Given the description of an element on the screen output the (x, y) to click on. 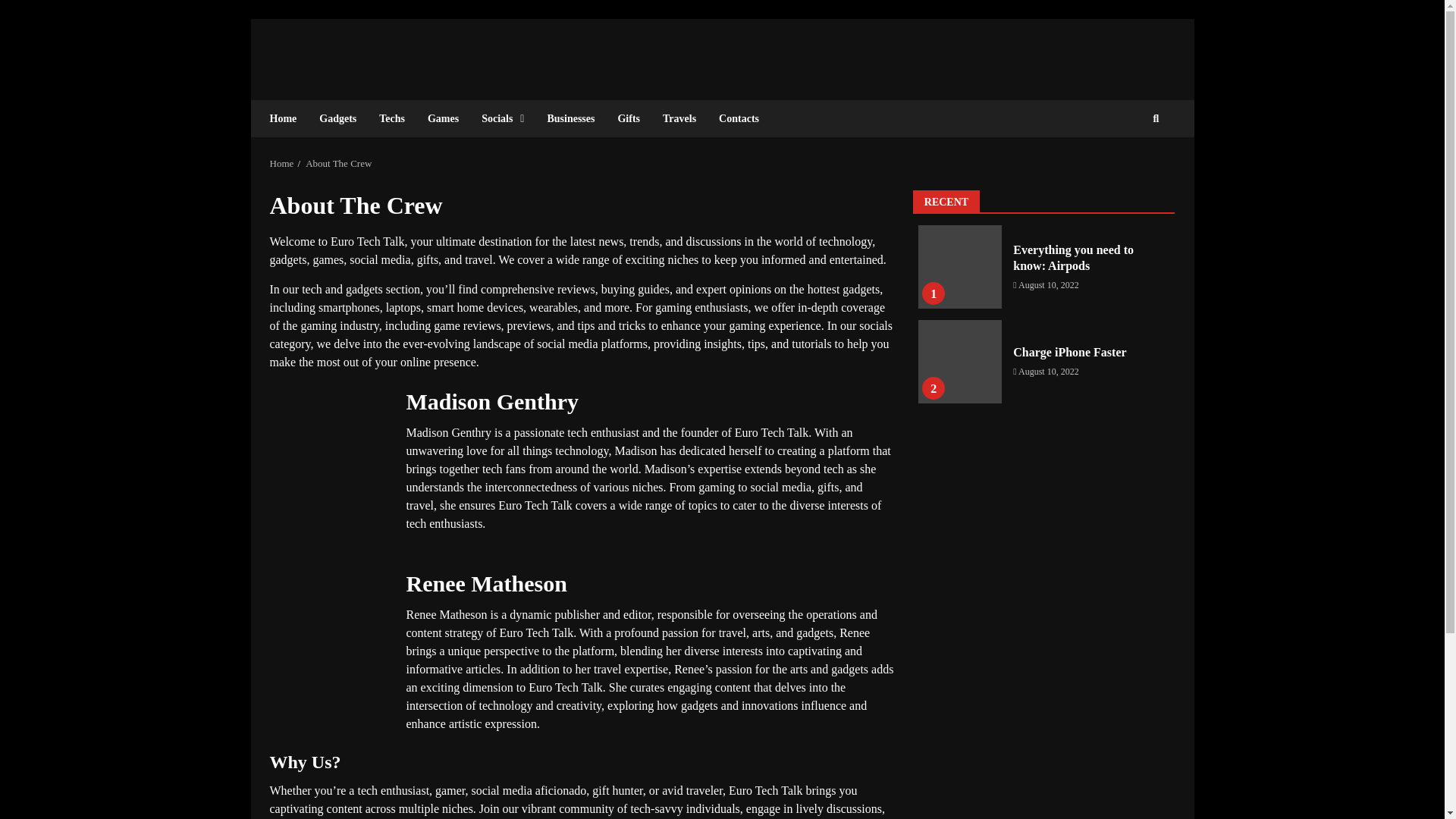
Gadgets (337, 118)
Techs (392, 118)
Gifts (627, 118)
Socials (502, 118)
Games (443, 118)
Home (288, 118)
Everything you need to know: Airpods (959, 266)
About The Crew (338, 163)
Contacts (732, 118)
Businesses (570, 118)
